Given the description of an element on the screen output the (x, y) to click on. 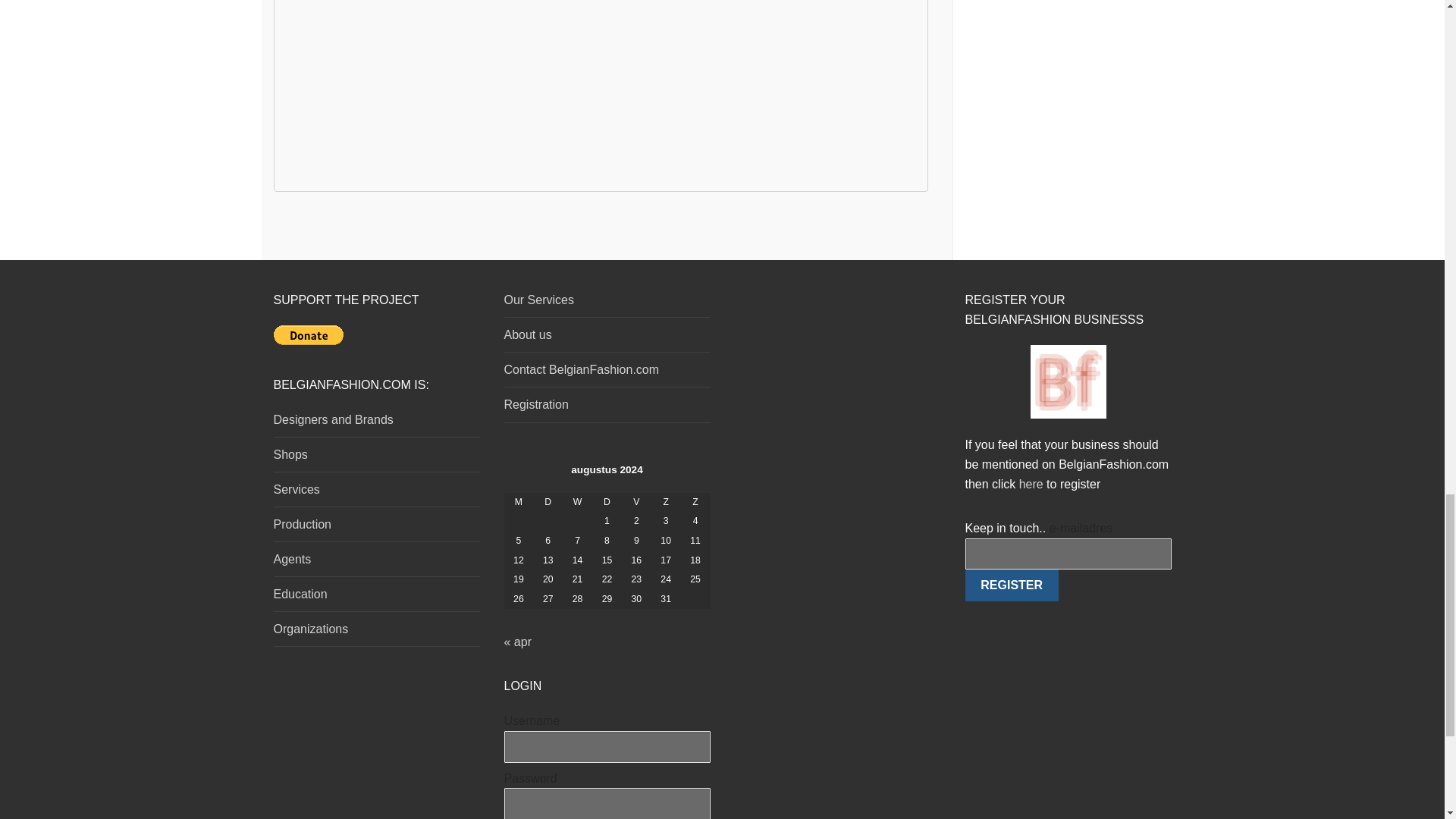
Register (1010, 585)
